Given the description of an element on the screen output the (x, y) to click on. 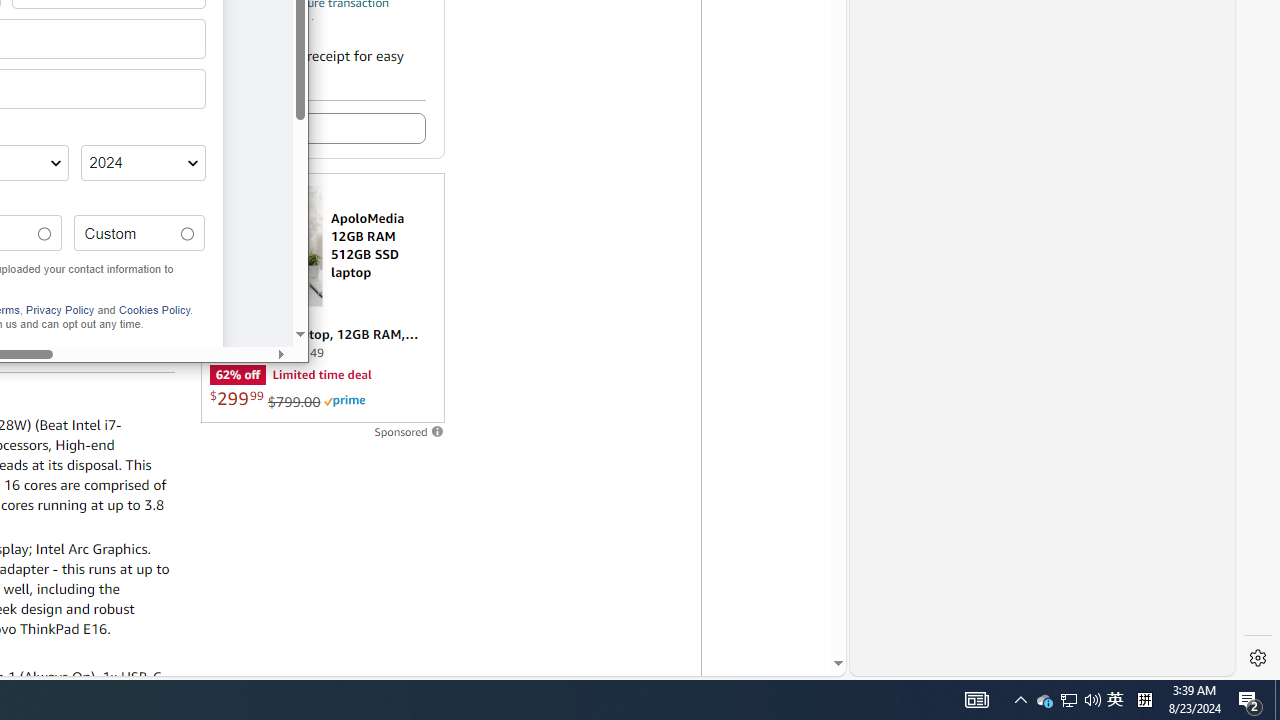
Year (142, 163)
Custom (187, 234)
